Given the description of an element on the screen output the (x, y) to click on. 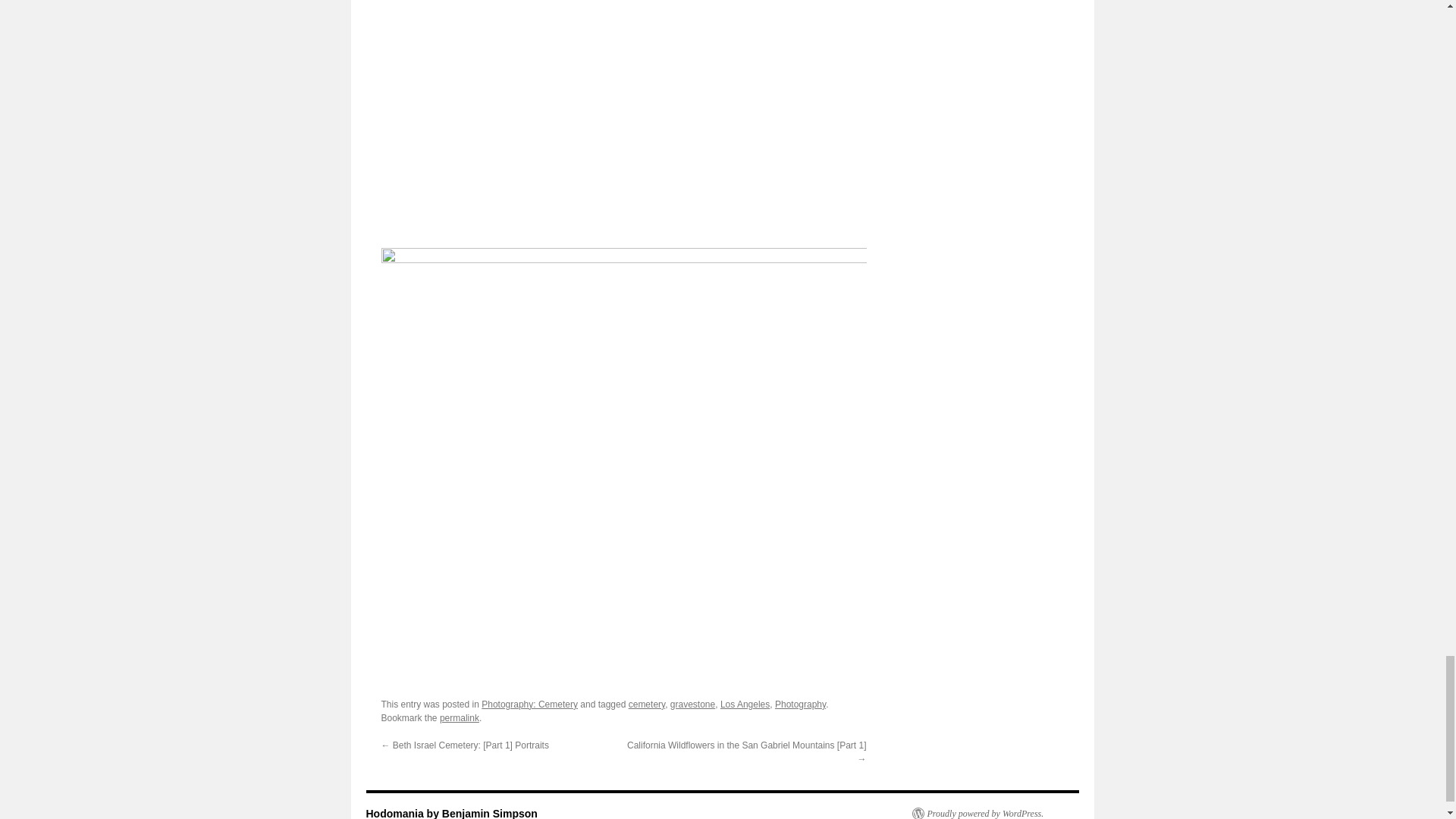
gravestone (691, 704)
cemetery (646, 704)
permalink (459, 717)
Photography: Cemetery (529, 704)
2011may18177 (557, 115)
Photography (799, 704)
Los Angeles (745, 704)
